Given the description of an element on the screen output the (x, y) to click on. 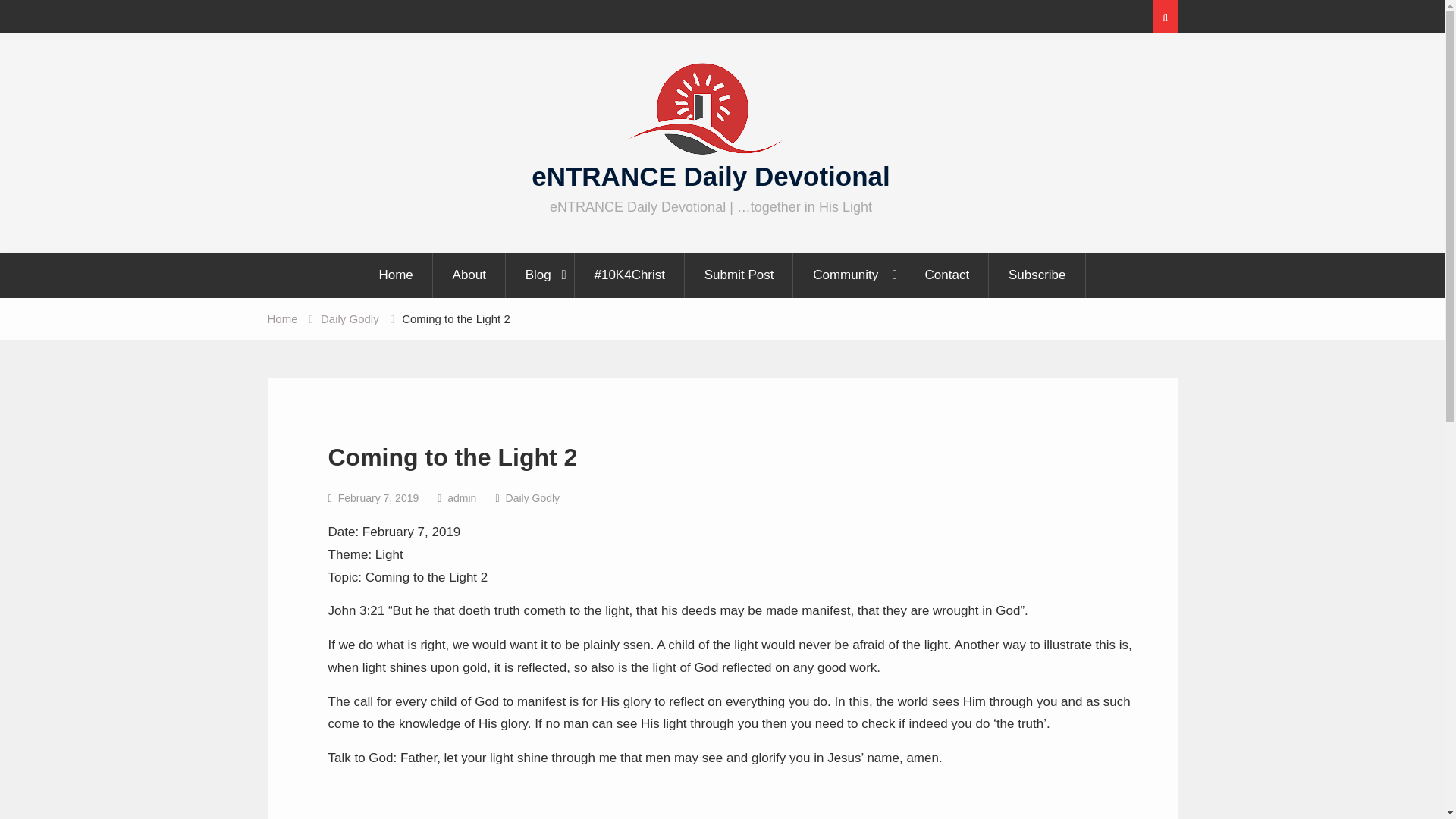
Contact (947, 275)
About (469, 275)
Community  (849, 275)
eNTRANCE Daily Devotional (710, 175)
Subscribe (1038, 275)
Submit Post (739, 275)
Blog (540, 275)
Home (281, 318)
Daily Godly (349, 318)
Home (395, 275)
